Given the description of an element on the screen output the (x, y) to click on. 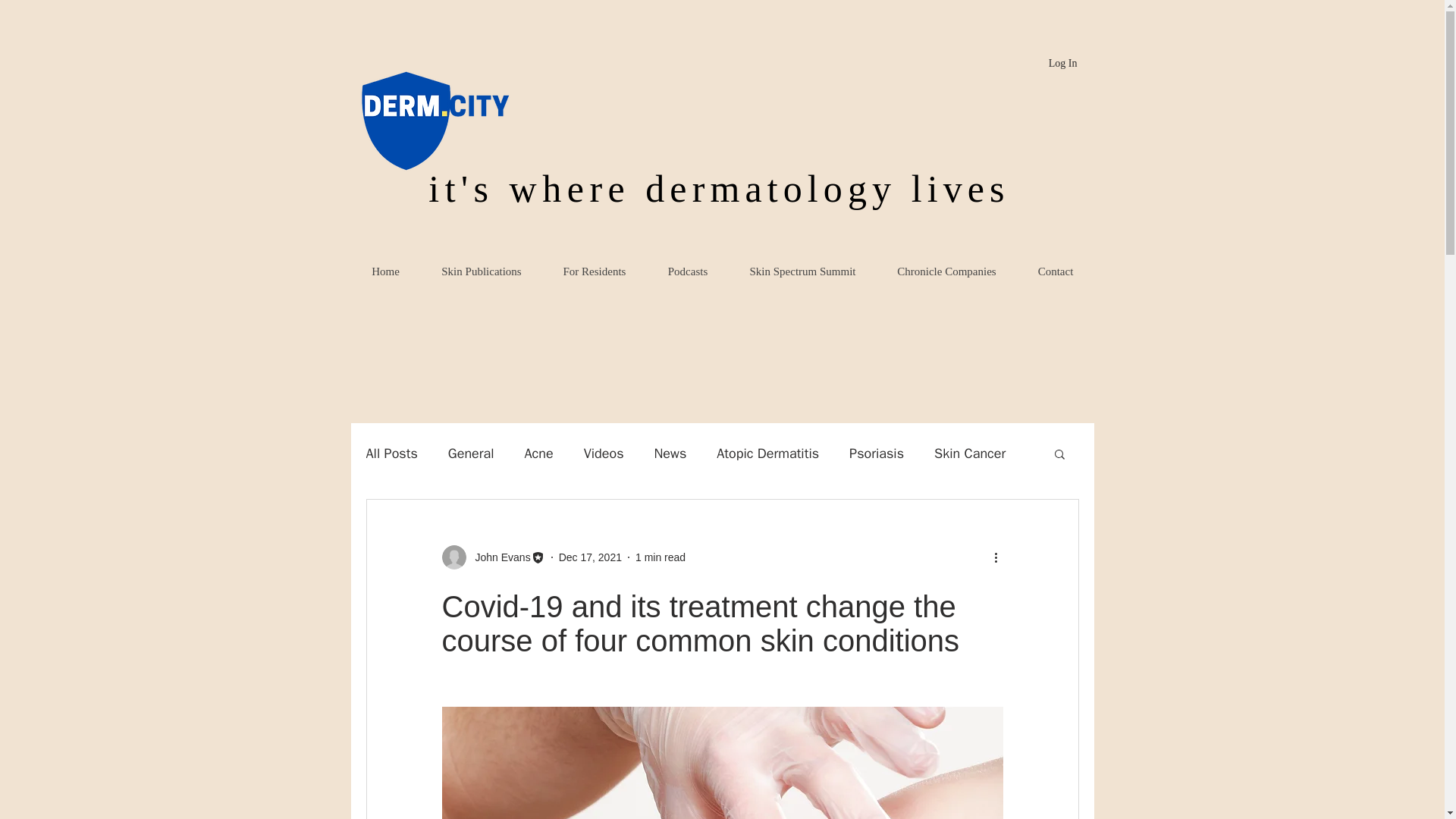
1 min read (659, 556)
Psoriasis (876, 453)
Skin Publications (480, 271)
John Evans (492, 557)
All Posts (390, 453)
Videos (603, 453)
For Residents (593, 271)
General (471, 453)
Acne (538, 453)
Skin Spectrum Summit (802, 271)
